Given the description of an element on the screen output the (x, y) to click on. 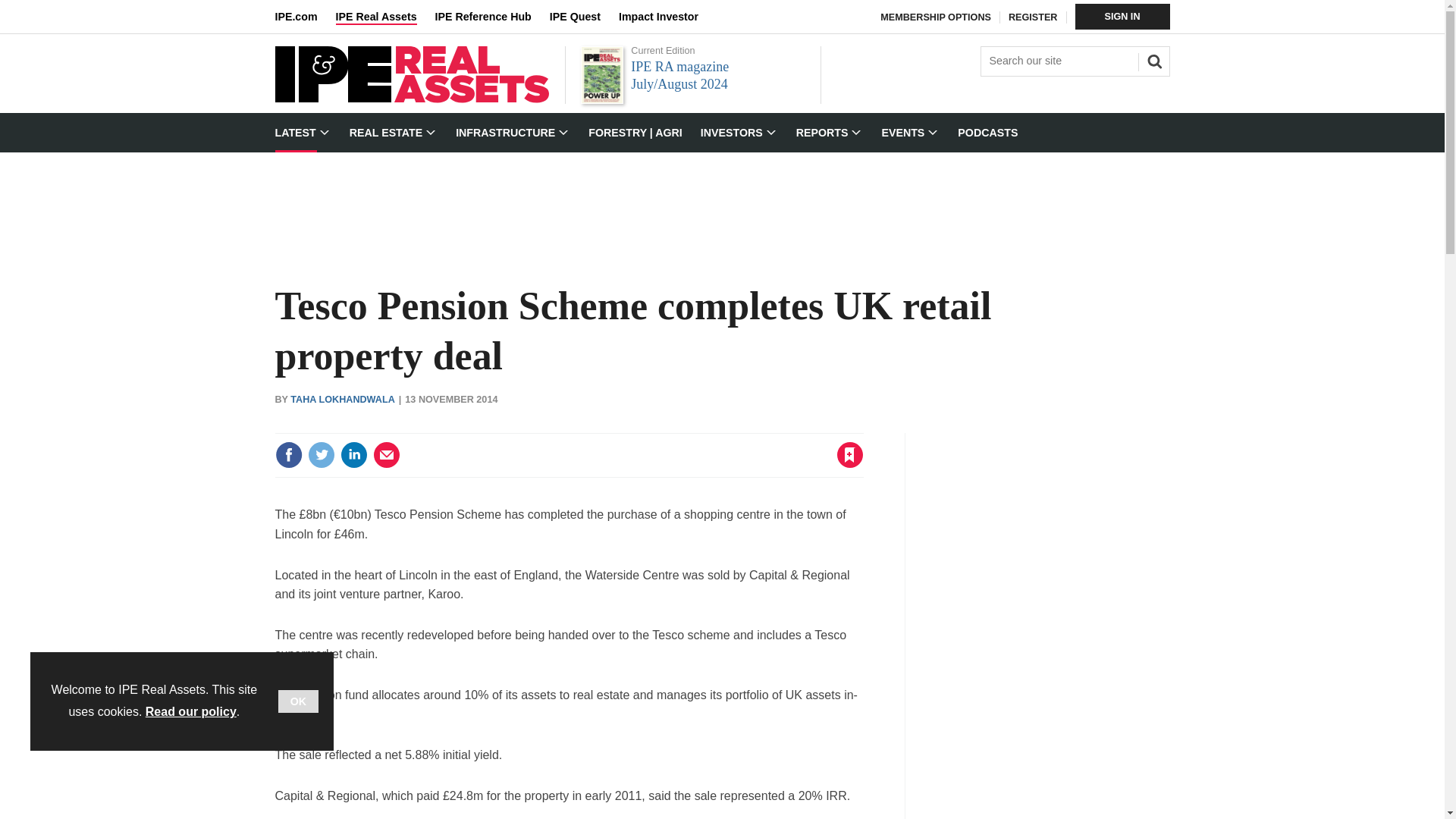
Impact Investor (667, 16)
SIGN IN (1122, 16)
Real Assets (411, 98)
REGISTER (1033, 17)
Impact Investor (667, 16)
Read our policy (190, 711)
IPE Quest (583, 16)
IPE Reference Hub (491, 16)
Share this on Twitter (320, 454)
IPE Reference Hub (491, 16)
